Given the description of an element on the screen output the (x, y) to click on. 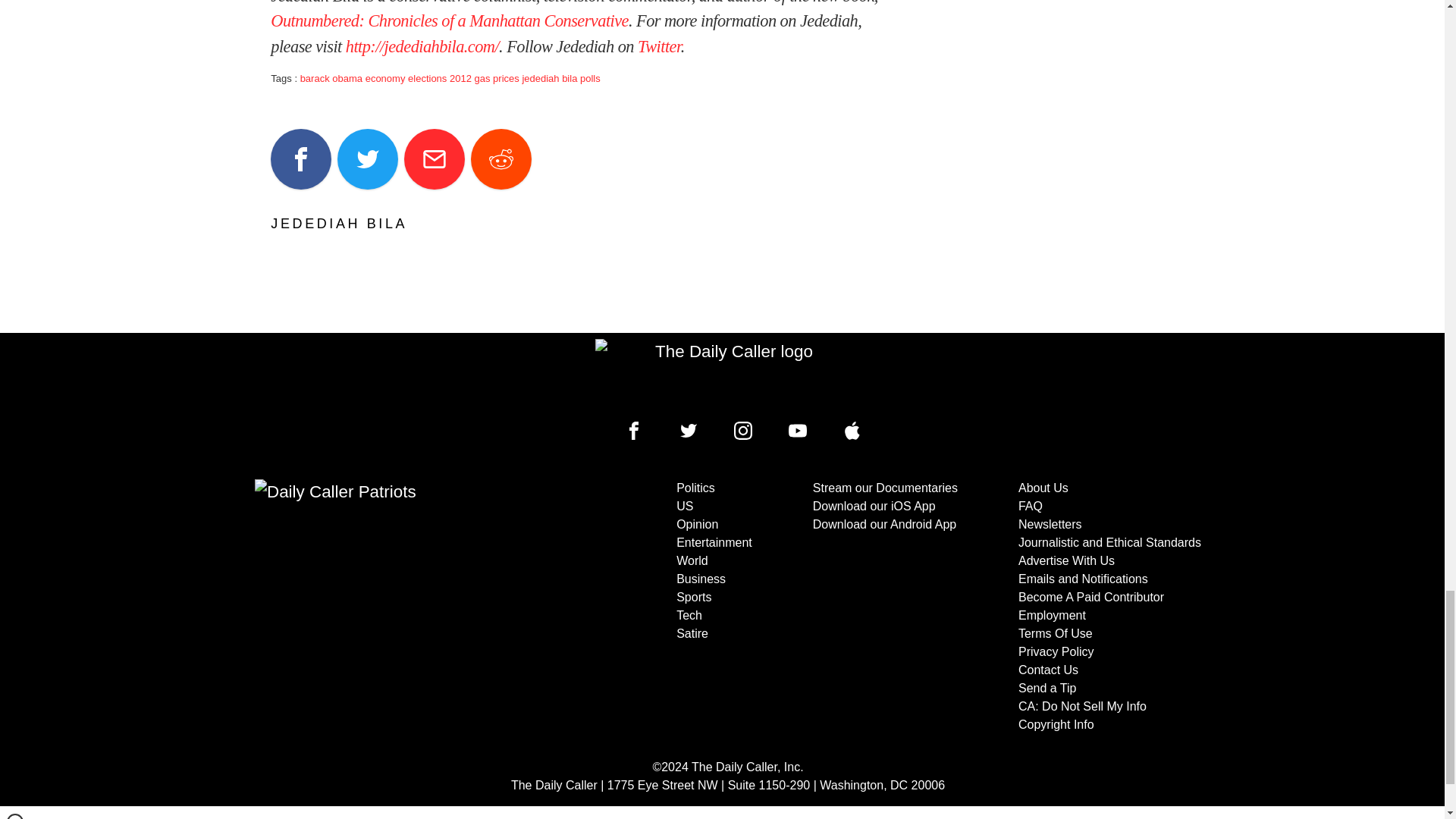
Daily Caller Facebook (633, 430)
Subscribe to The Daily Caller (405, 606)
Daily Caller YouTube (852, 430)
Daily Caller YouTube (797, 430)
To home page (727, 374)
Daily Caller Twitter (688, 430)
Daily Caller Instagram (742, 430)
